Given the description of an element on the screen output the (x, y) to click on. 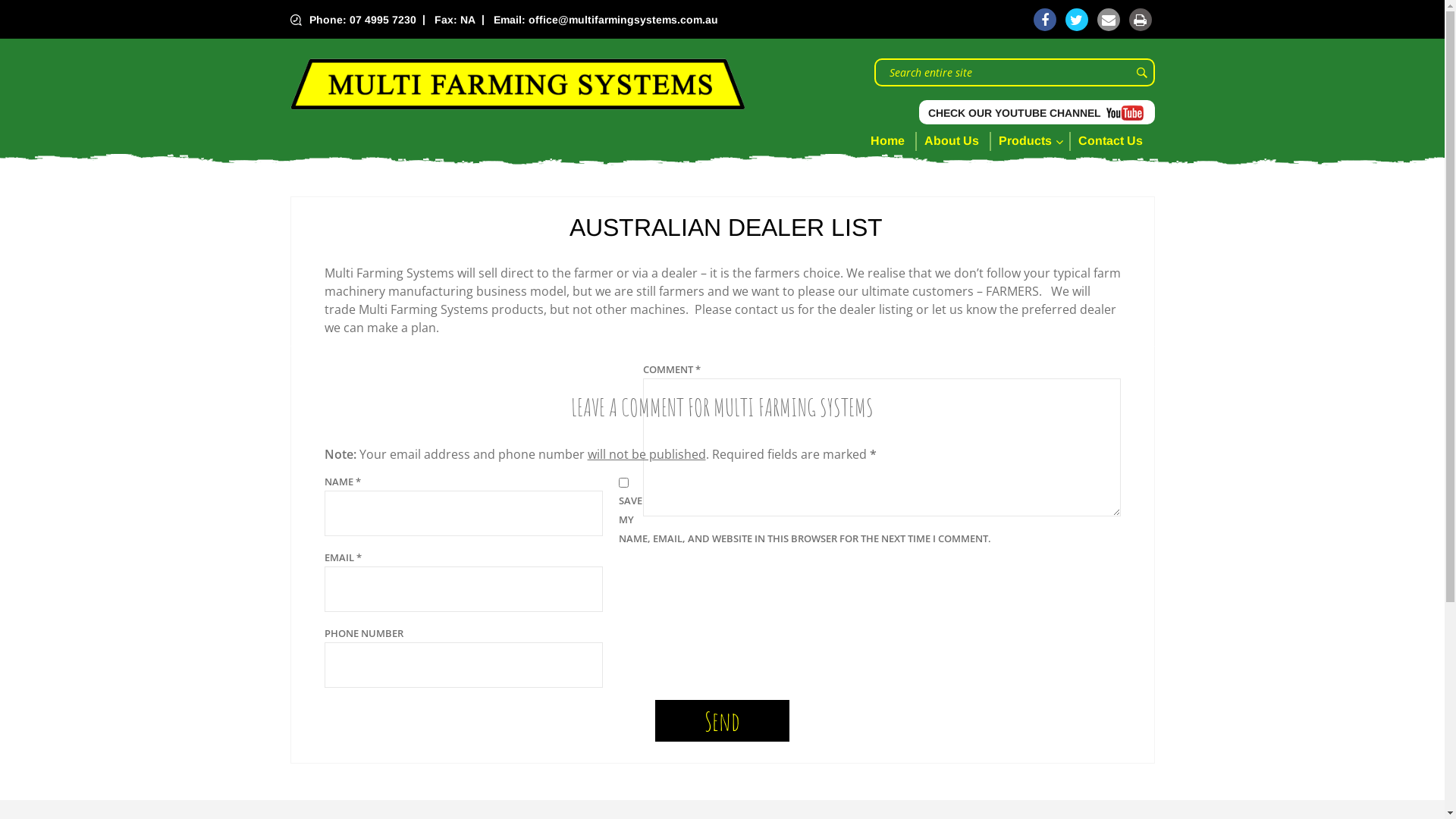
About Us Element type: text (953, 140)
Law For Websites Element type: text (169, 8)
Multi Farming Systems Element type: hover (516, 83)
Share it on Email Element type: hover (1107, 19)
Home Element type: text (893, 140)
Print Element type: hover (1139, 19)
office@multifarmingsystems.com.au Element type: text (622, 19)
Contact Us Element type: text (1112, 140)
Send Element type: text (722, 720)
Our YouTube channel Element type: hover (1123, 112)
  Element type: text (1123, 112)
Products Element type: text (1030, 140)
07 4995 7230 Element type: text (381, 19)
Search Element type: text (1140, 71)
Share on Facebook Element type: hover (1043, 19)
Share on Twitter Element type: hover (1075, 19)
